Given the description of an element on the screen output the (x, y) to click on. 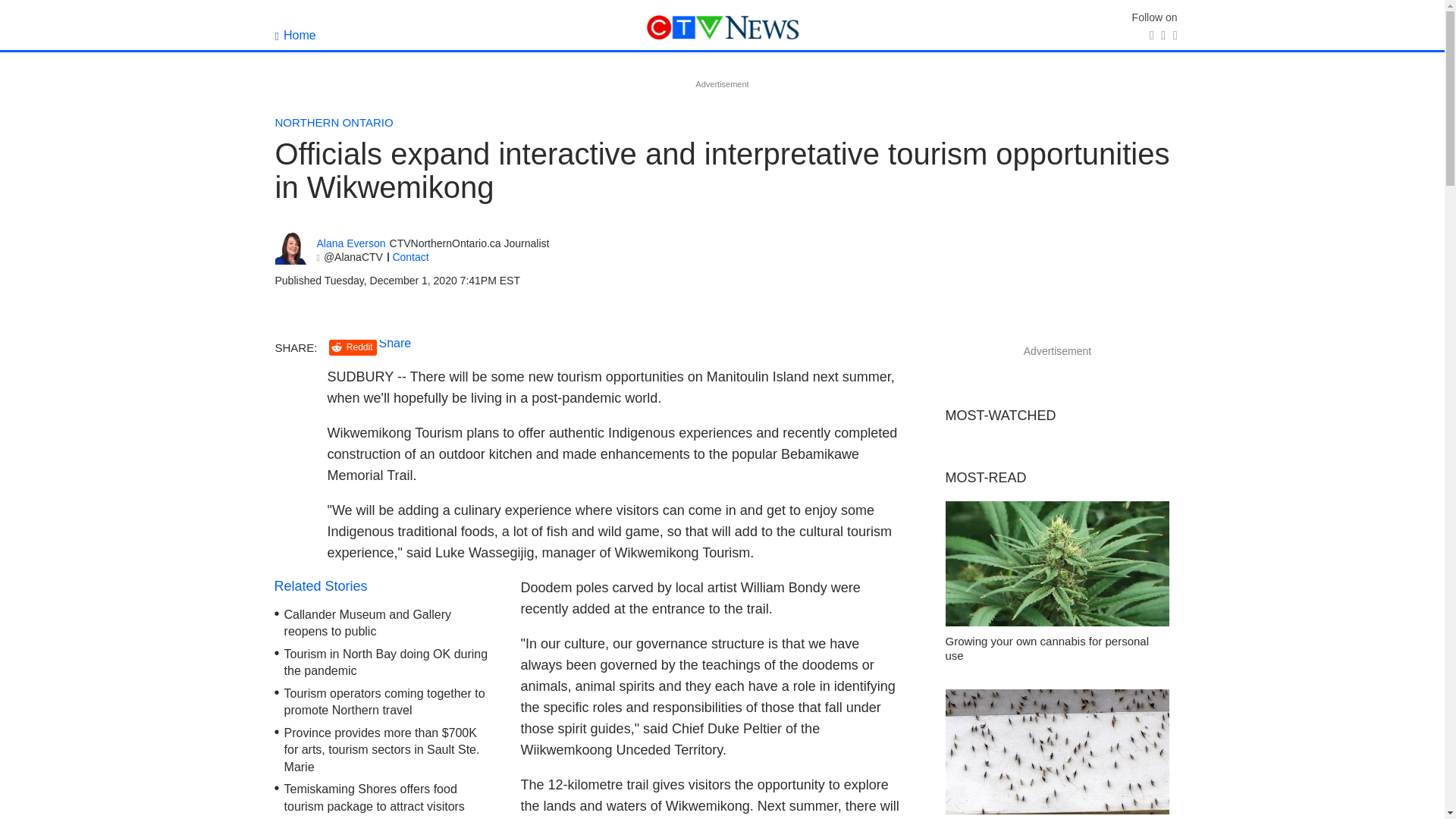
Home (295, 34)
Callander Museum and Gallery reopens to public (367, 623)
Alana Everson (351, 243)
Tourism operators coming together to promote Northern travel (383, 702)
Reddit (353, 347)
Share (395, 342)
NORTHERN ONTARIO (334, 122)
Contact (409, 256)
Tourism in North Bay doing OK during the pandemic (385, 662)
